Given the description of an element on the screen output the (x, y) to click on. 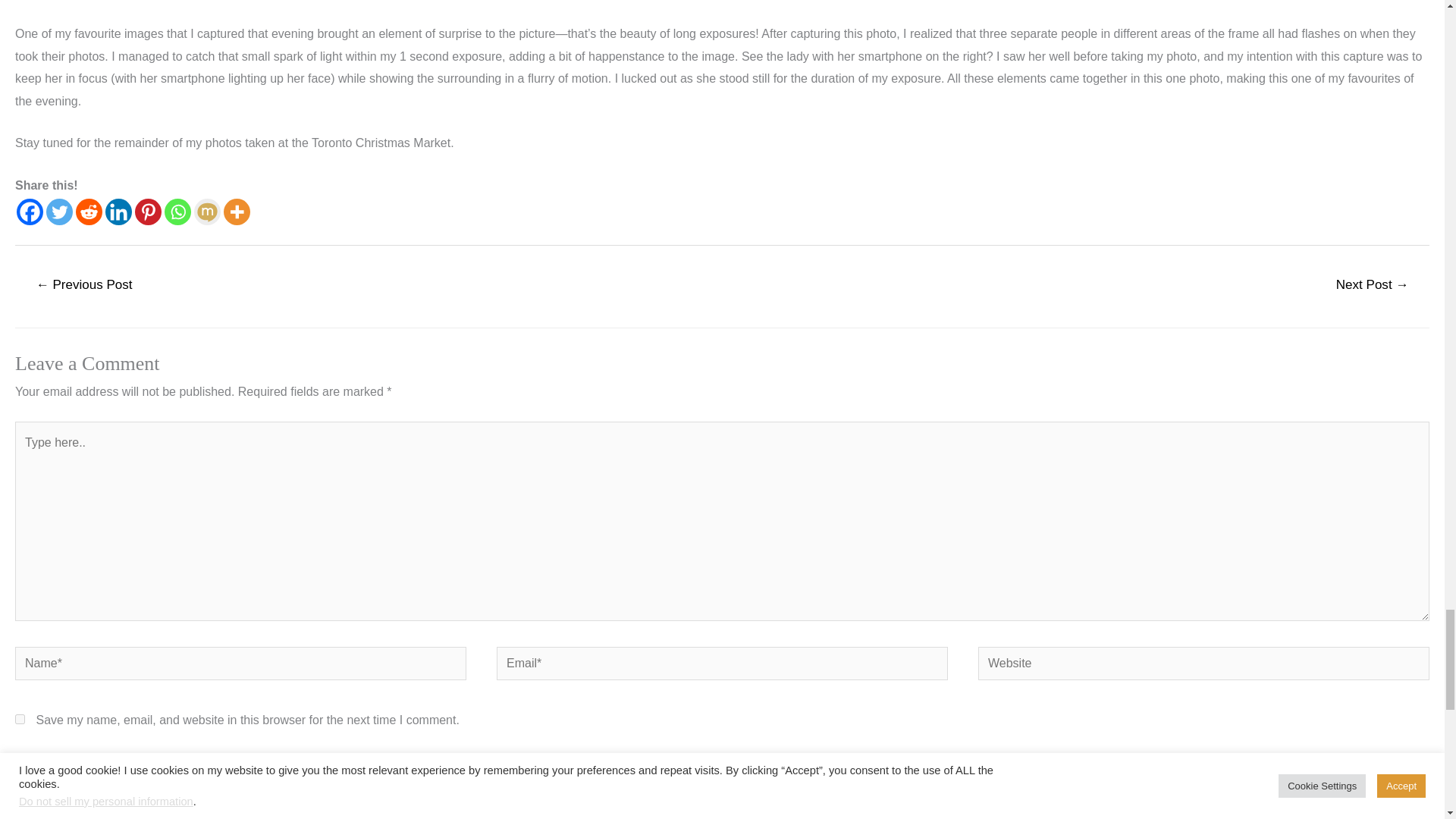
Reddit (88, 212)
Twitter (59, 212)
Mixi (207, 212)
subscribe (19, 763)
Pinterest (148, 212)
yes (19, 718)
Whatsapp (177, 212)
Facebook (29, 212)
subscribe (19, 798)
Linkedin (118, 212)
More (237, 212)
